Given the description of an element on the screen output the (x, y) to click on. 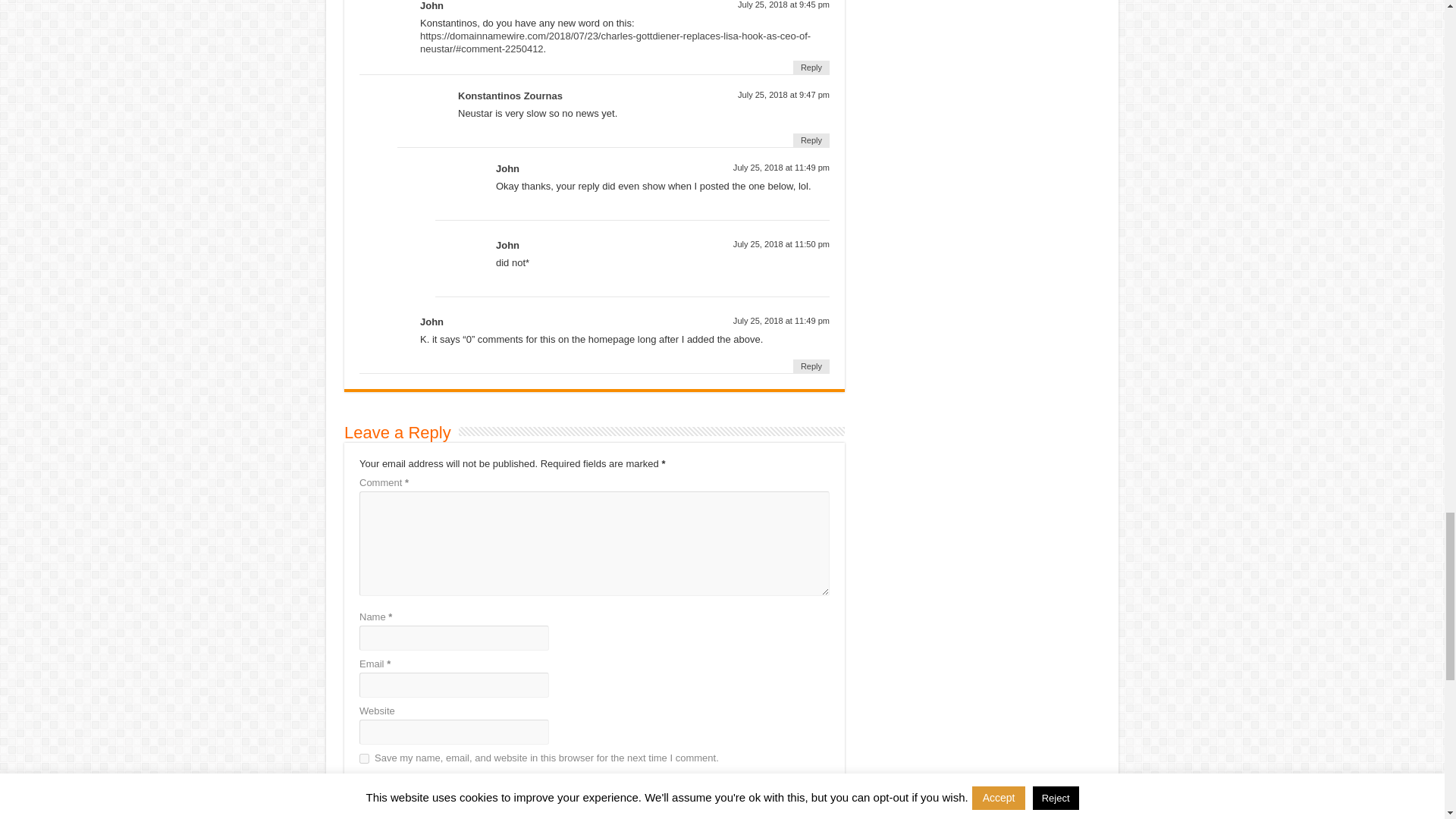
yes (364, 758)
subscribe (364, 799)
Post Comment (394, 815)
subscribe (364, 780)
